Given the description of an element on the screen output the (x, y) to click on. 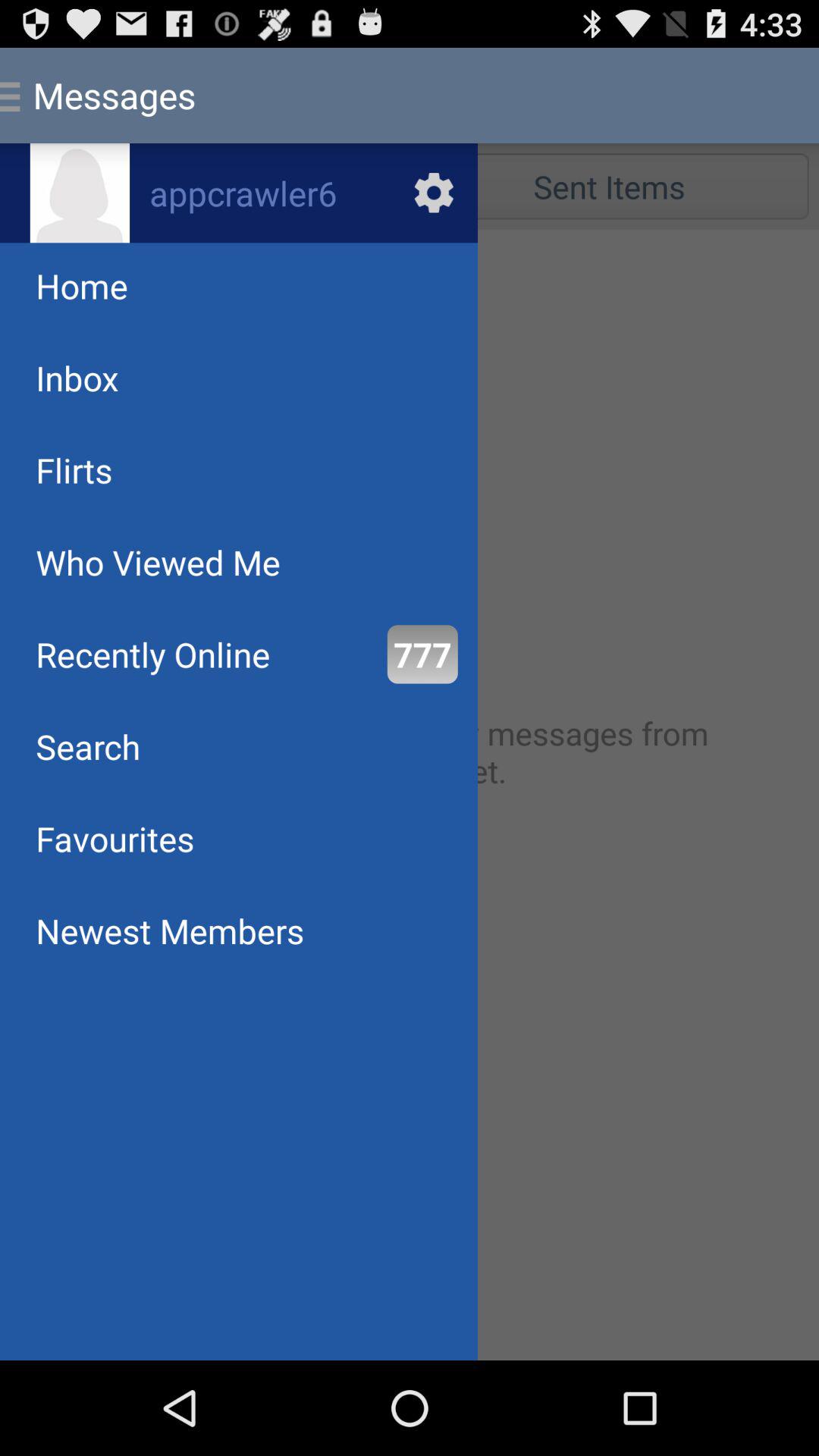
select the icon  above the home (79, 192)
